Given the description of an element on the screen output the (x, y) to click on. 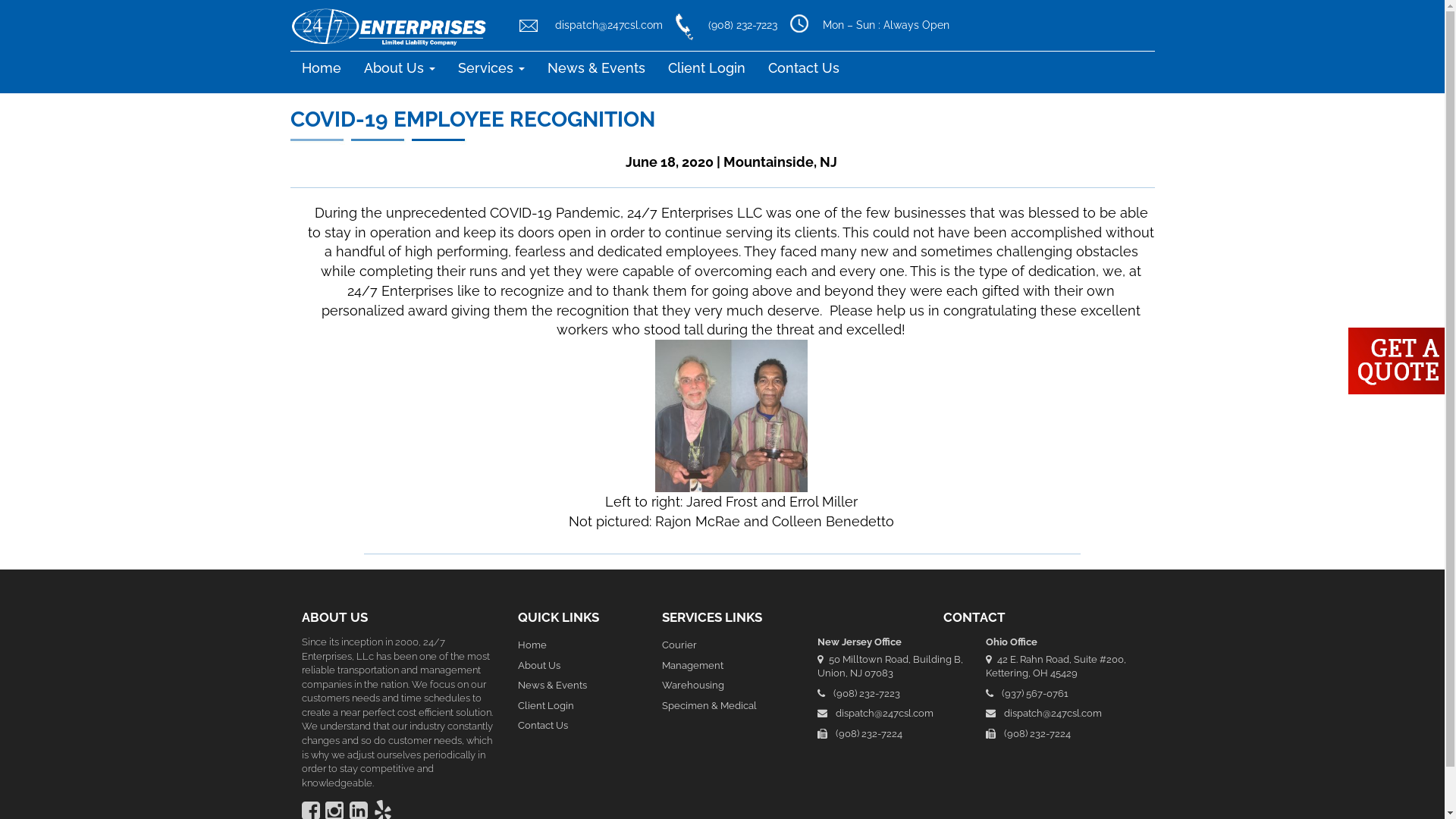
Services Element type: text (490, 67)
Client Login Element type: text (577, 706)
dispatch@247csl.com Element type: text (588, 24)
(908) 232-7224 Element type: text (890, 734)
(908) 232-7223 Element type: text (722, 24)
Courier Element type: text (721, 645)
42 E. Rahn Road, Suite #200, Kettering, OH 45429 Element type: text (1058, 666)
(937) 567-0761 Element type: text (1058, 694)
Contact Us Element type: text (577, 725)
Client Login Element type: text (706, 67)
Home Element type: text (577, 645)
Warehousing Element type: text (721, 685)
Specimen & Medical Element type: text (721, 706)
Management Element type: text (721, 665)
Home Element type: text (320, 67)
News & Events Element type: text (595, 67)
dispatch@247csl.com Element type: text (1058, 713)
(908) 232-7224 Element type: text (1058, 734)
News & Events Element type: text (577, 685)
About Us Element type: text (398, 67)
dispatch@247csl.com Element type: text (890, 713)
50 Milltown Road, Building B, Union, NJ 07083 Element type: text (890, 666)
About Us Element type: text (577, 665)
Contact Us Element type: text (803, 67)
(908) 232-7223 Element type: text (890, 694)
